Given the description of an element on the screen output the (x, y) to click on. 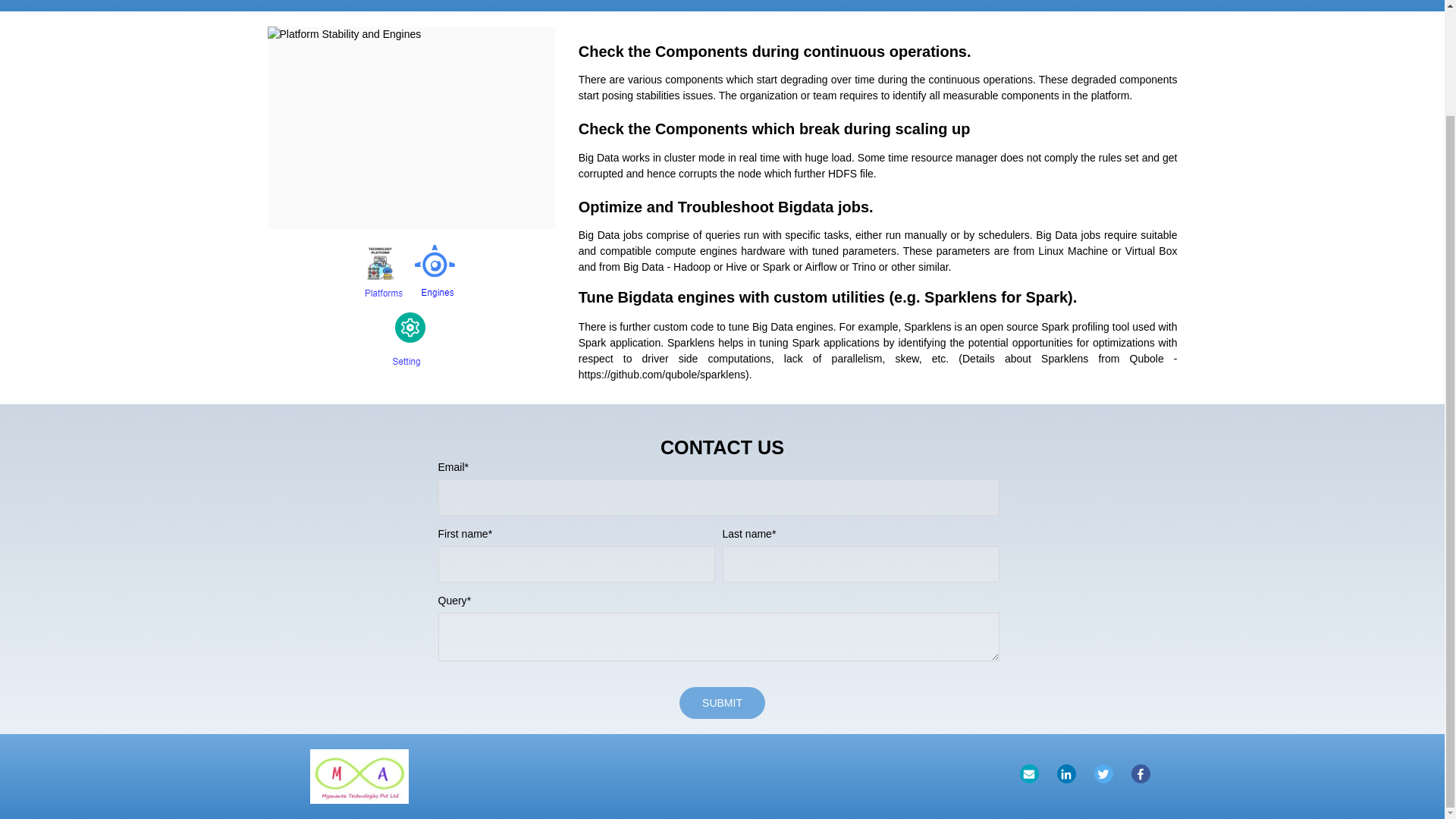
Submit (722, 703)
Platform Stability and Engines (410, 127)
Myananta Technologies (359, 776)
Submit (722, 703)
